Given the description of an element on the screen output the (x, y) to click on. 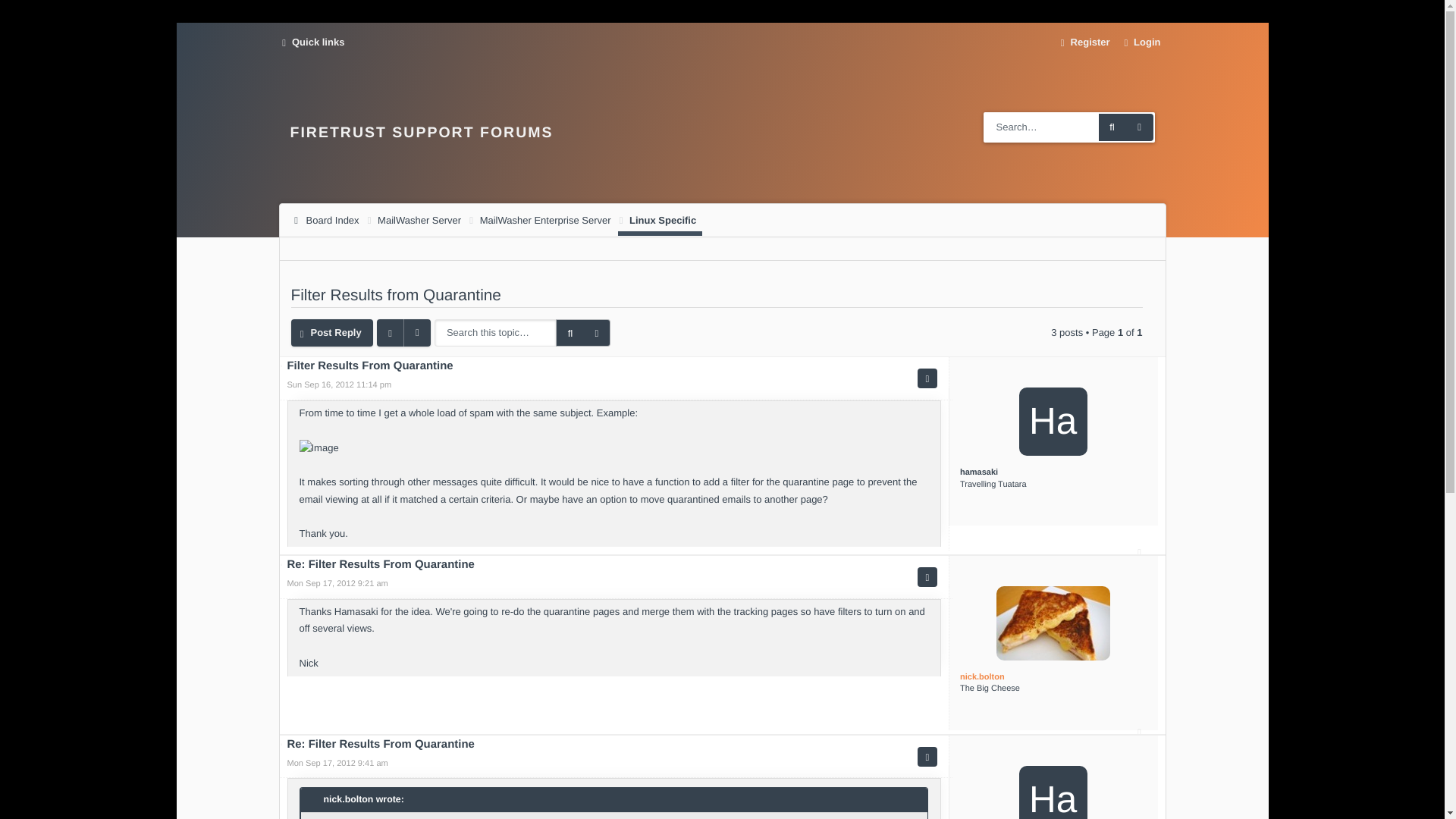
Re: Filter Results From Quarantine (380, 565)
Advanced search (1139, 126)
Ha (1053, 792)
Topic tools (403, 332)
Reply with quote (927, 378)
Register (1083, 42)
Search (569, 332)
Post (285, 369)
MailWasher Enterprise Server (541, 219)
Filter Results from Quarantine (395, 294)
